Given the description of an element on the screen output the (x, y) to click on. 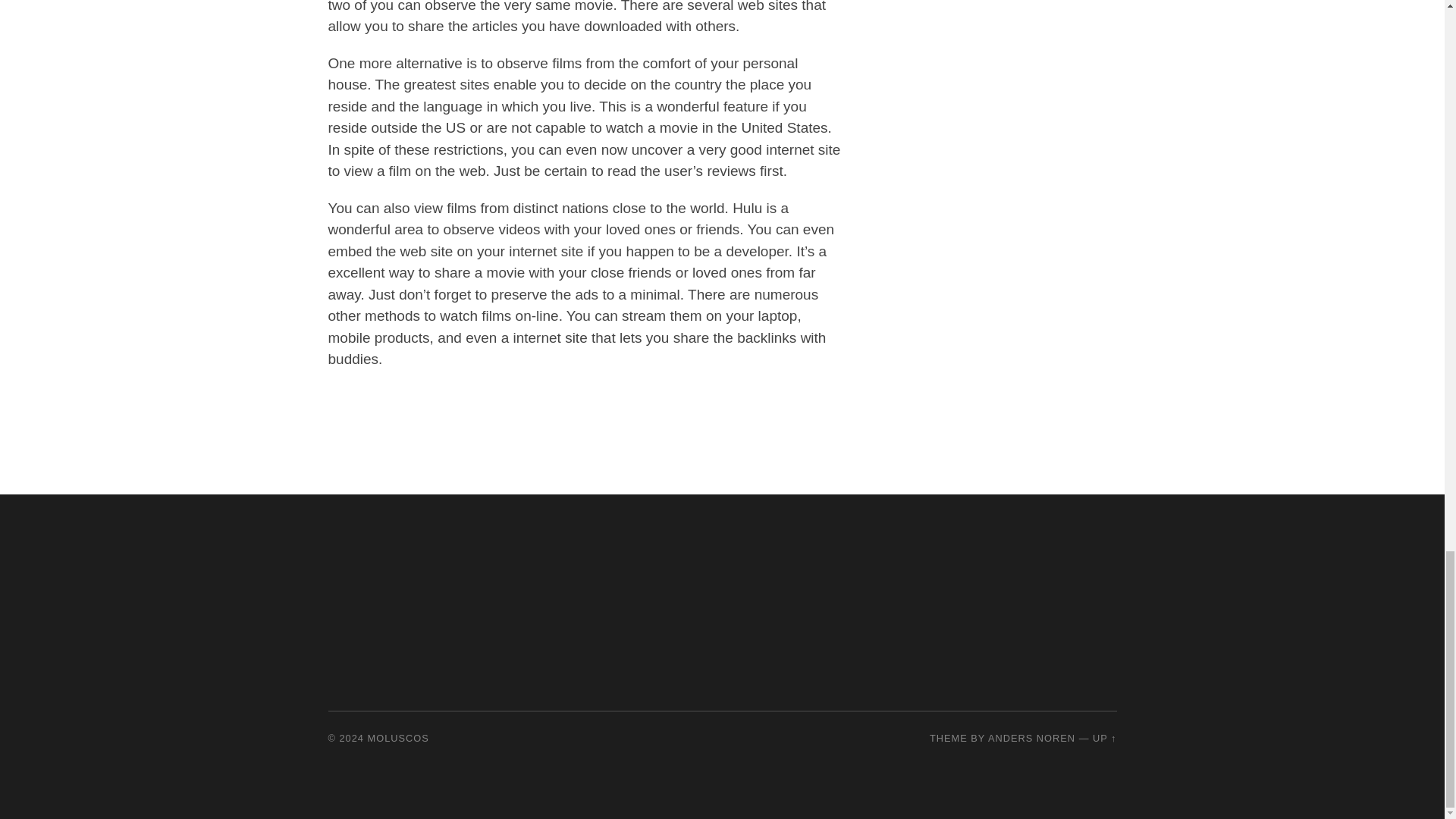
To the top (1104, 737)
MOLUSCOS (398, 737)
ANDERS NOREN (1031, 737)
